Given the description of an element on the screen output the (x, y) to click on. 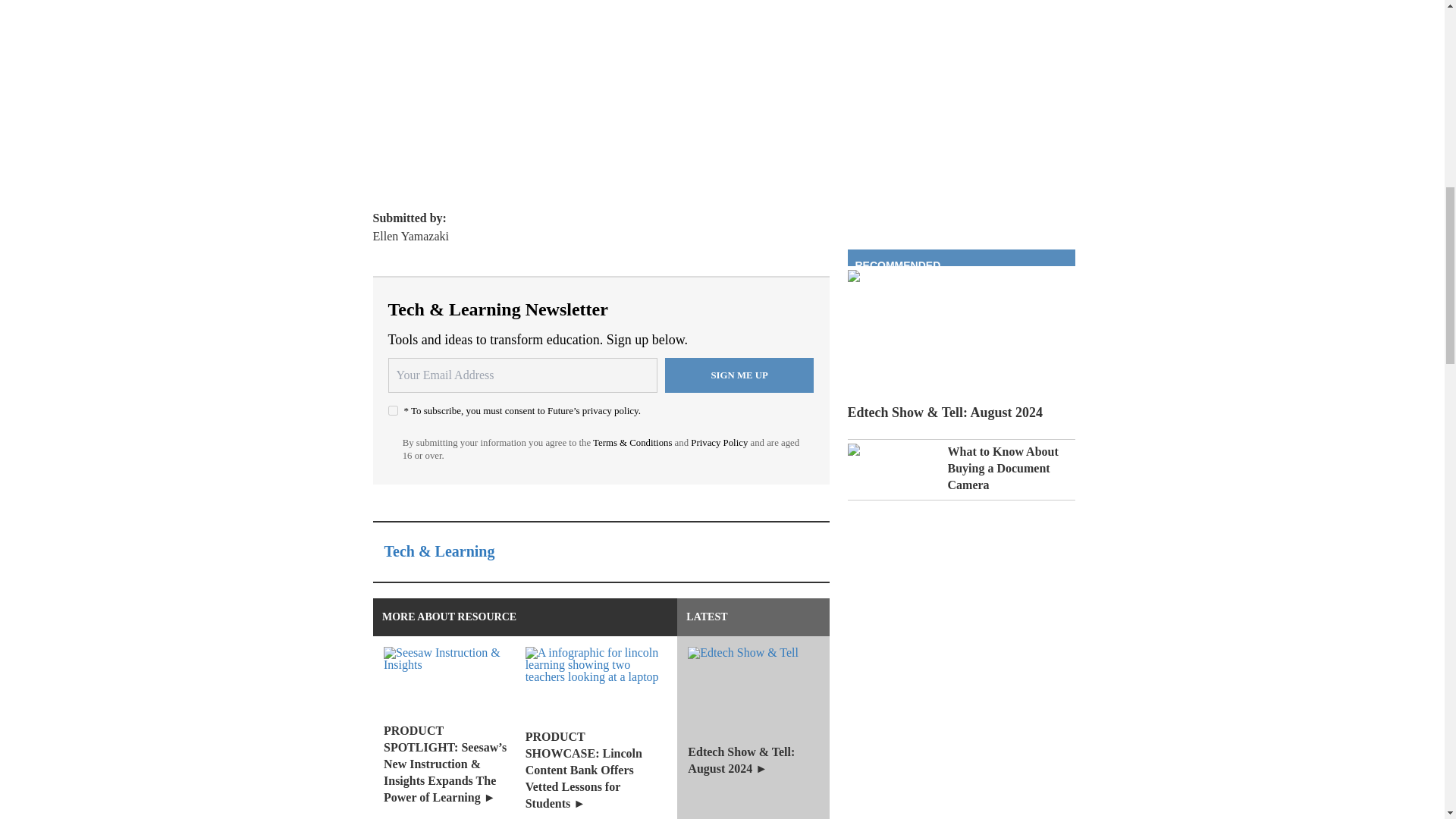
Sign me up (739, 375)
Privacy Policy (719, 442)
on (392, 410)
Sign me up (739, 375)
